Given the description of an element on the screen output the (x, y) to click on. 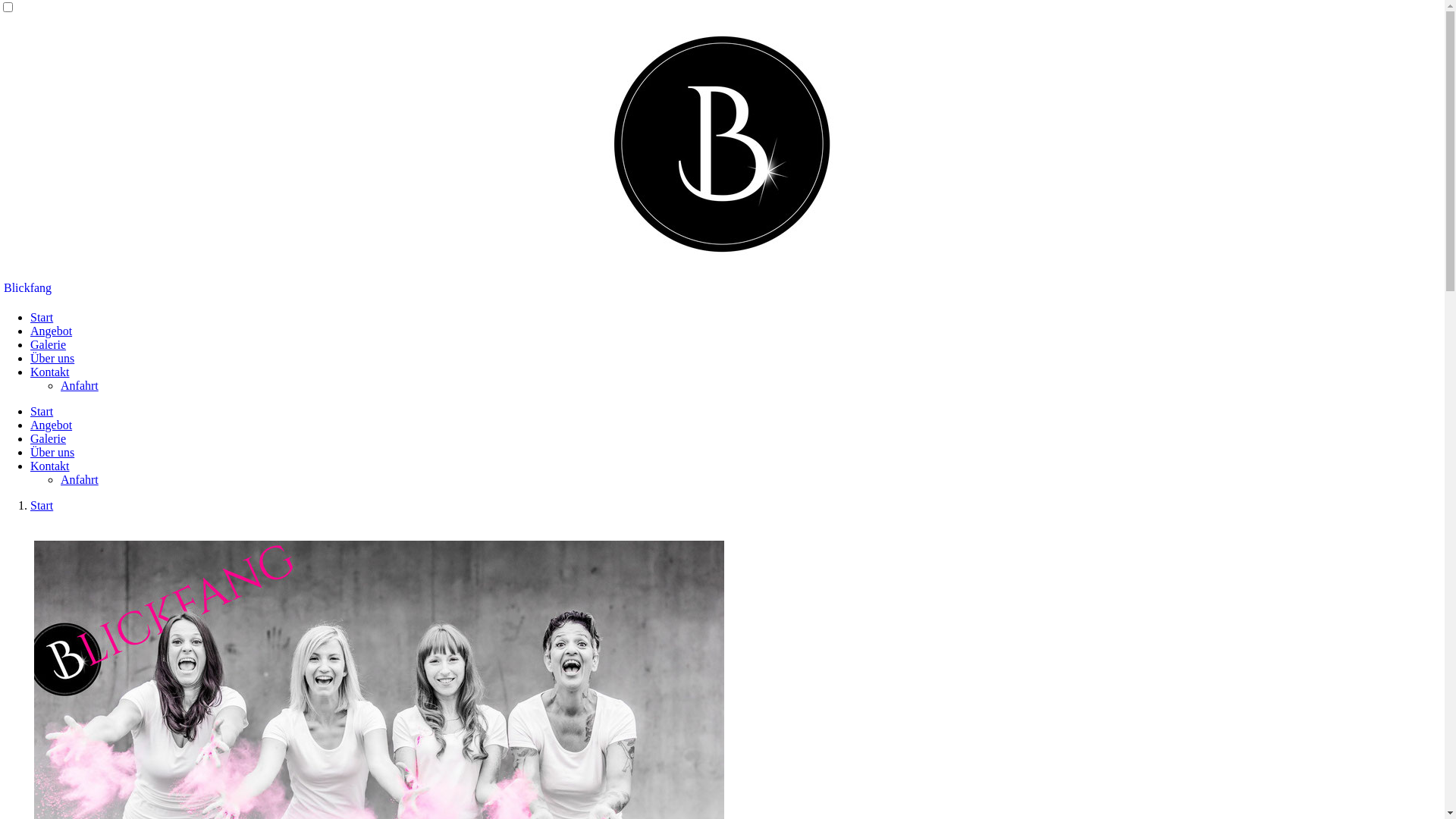
Kontakt Element type: text (49, 371)
Kontakt Element type: text (49, 465)
Start Element type: text (41, 410)
Angebot Element type: text (51, 330)
Galerie Element type: text (47, 344)
Galerie Element type: text (47, 438)
Blickfang Element type: text (27, 287)
Anfahrt Element type: text (79, 479)
Start Element type: text (41, 504)
Angebot Element type: text (51, 424)
Start Element type: text (41, 316)
Anfahrt Element type: text (79, 385)
